Given the description of an element on the screen output the (x, y) to click on. 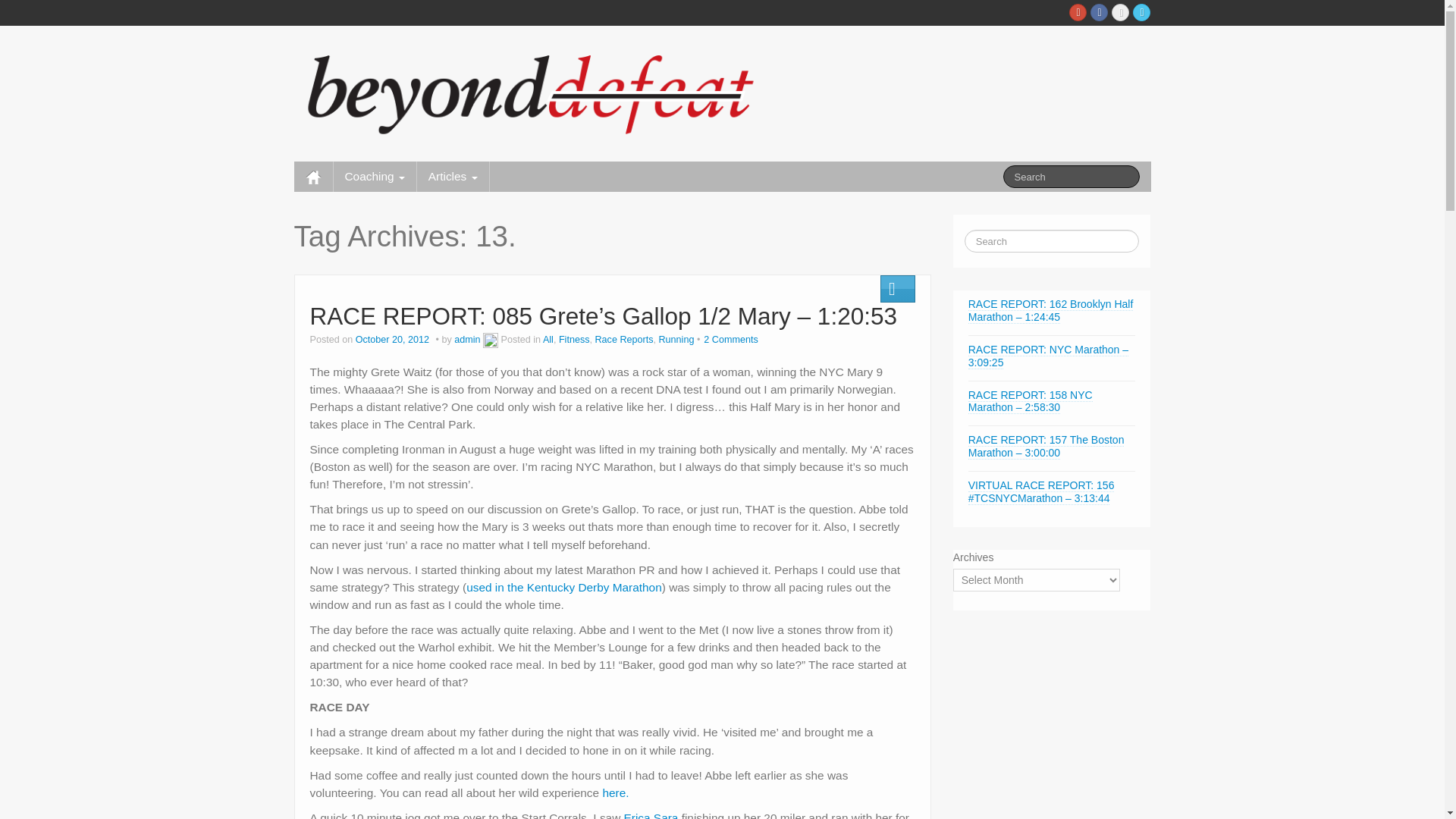
Fitness (574, 339)
Erica Sara (651, 815)
Coaching (374, 176)
here. (615, 792)
October 20, 2012 (393, 339)
admin (467, 339)
BEYOND DEFEAT Twitter (1141, 12)
Articles (452, 176)
used in the Kentucky Derby Marathon (563, 586)
View all posts by admin (467, 339)
Race Reports (624, 339)
BEYOND DEFEAT Googleplus (1077, 12)
BEYOND DEFEAT (539, 91)
Running (676, 339)
All (548, 339)
